Given the description of an element on the screen output the (x, y) to click on. 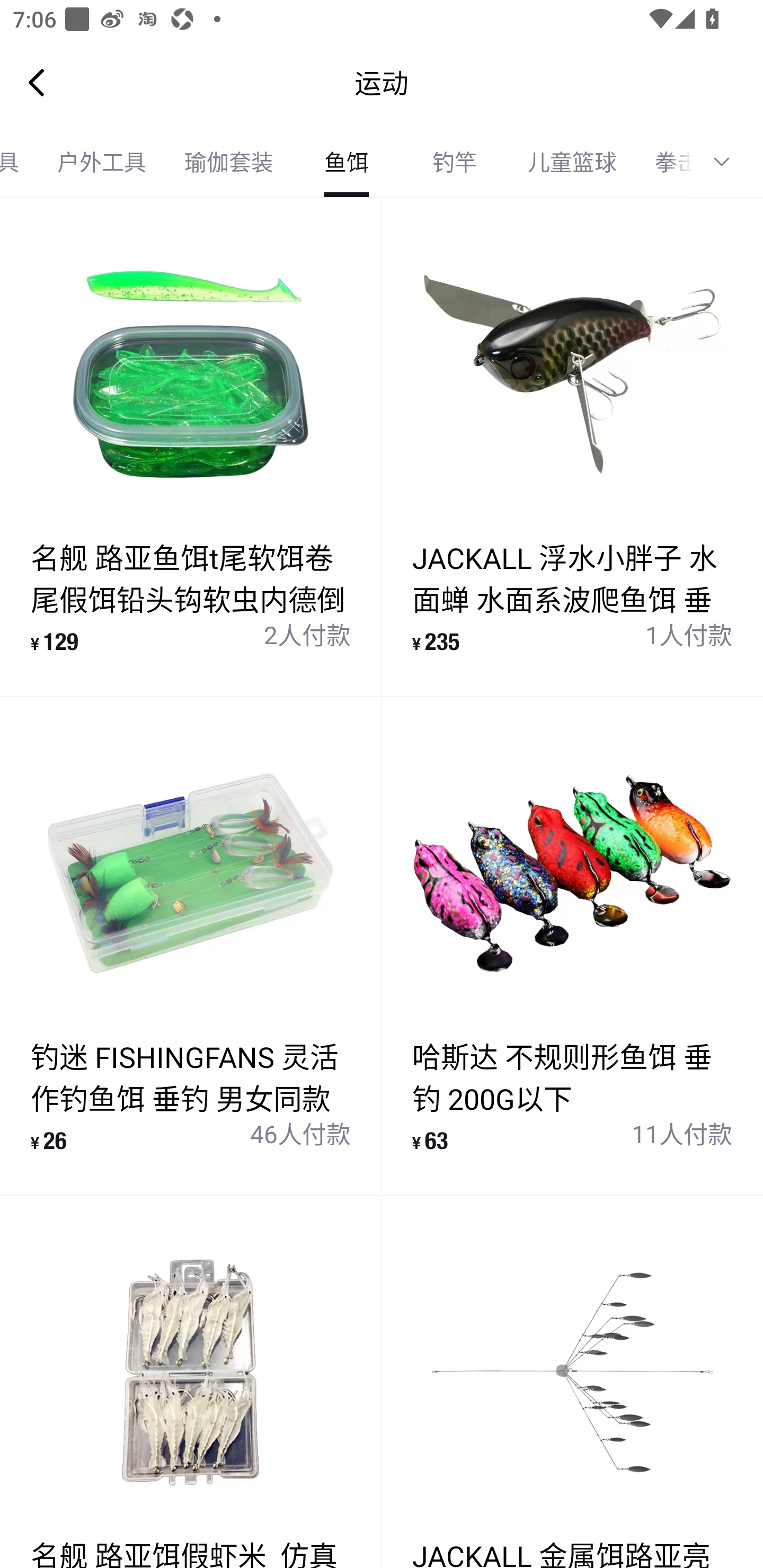
Navigate up (36, 82)
户外工具 (101, 162)
瑜伽套装 (228, 162)
鱼饵 (346, 162)
钓竿 (454, 162)
儿童篮球 (571, 162)
 (727, 162)
名舰 路亚鱼饵t尾软饵卷
尾假饵铅头钩软虫内德倒
钓淡水鱼鳜鱼翘嘴鱼饵 
垂钓 ¥ 129 2人付款 (190, 446)
JACKALL 浮水小胖子 水
面蝉 水面系波爬鱼饵 垂
钓路亚饵 ¥ 235 1人付款 (572, 446)
钓迷 FISHINGFANS 灵活
作钓鱼饵 垂钓 男女同款 
绿色 透明色 ¥ 26 46人付款 (190, 945)
哈斯达 不规则形鱼饵 垂
钓 200G以下 ¥ 63 11人付款 (572, 945)
名舰 路亚饵假虾米  仿真
虾 假虾假饵4.5cm鱼饵 
小草虾 路亚虾软饵路亚
虾 垂钓 (190, 1381)
JACKALL 金属饵路亚亮
片状钓组鱼饵 垂钓 (572, 1381)
